Given the description of an element on the screen output the (x, y) to click on. 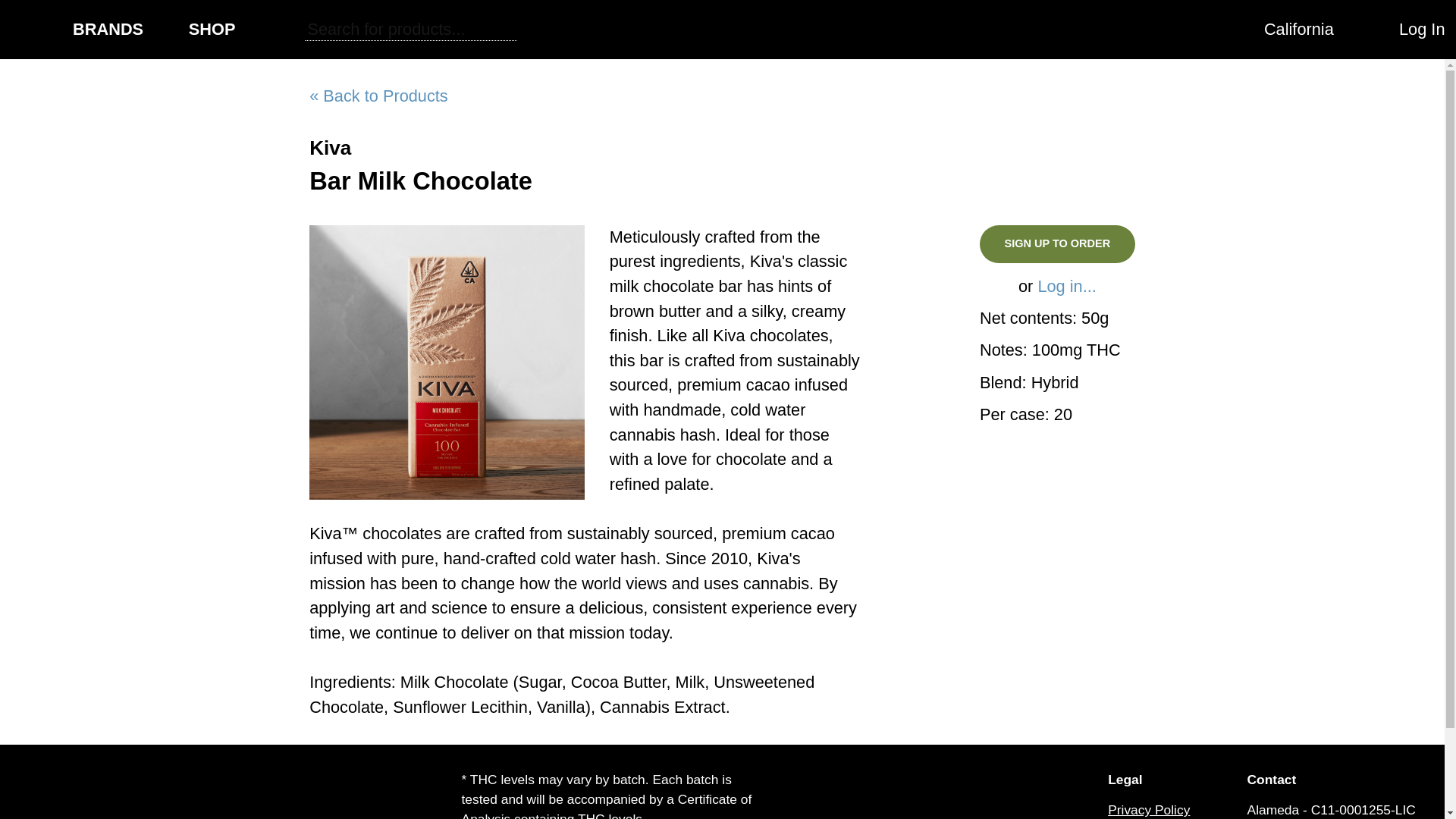
SHOP (211, 28)
